Given the description of an element on the screen output the (x, y) to click on. 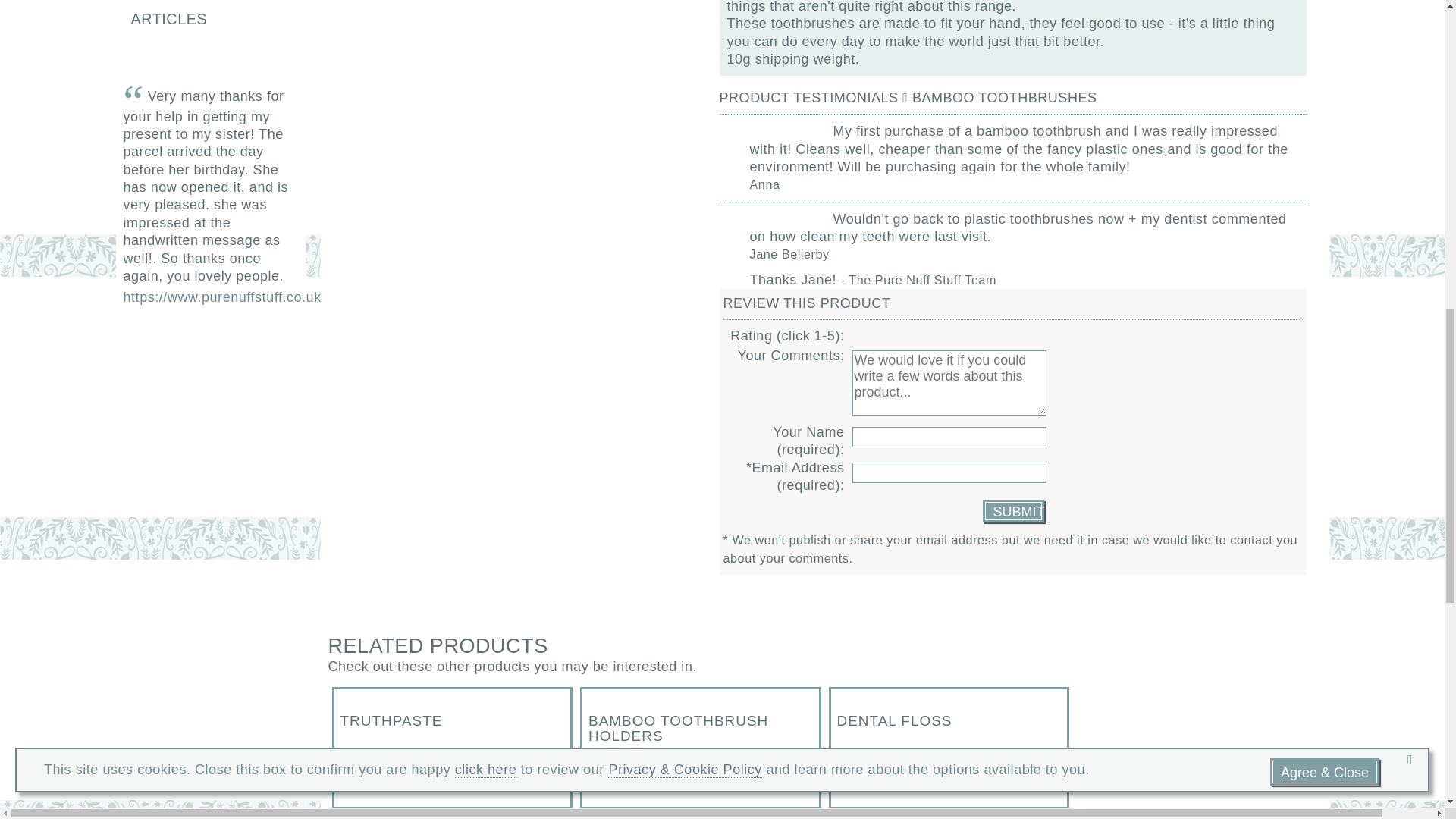
Bamboo Toothbrush Holders  (700, 747)
Connect with Pure Nuff Stuff Ltd Twitter (184, 347)
Dental Floss  (949, 747)
Connect with Pure Nuff Stuff Ltd Facebook (141, 347)
Connect with Pure Nuff Stuff Ltd Instagram (267, 347)
Connect with Pure Nuff Stuff Ltd Pinterest (225, 347)
review (1012, 511)
Articles (205, 18)
Truthpaste (451, 747)
